Given the description of an element on the screen output the (x, y) to click on. 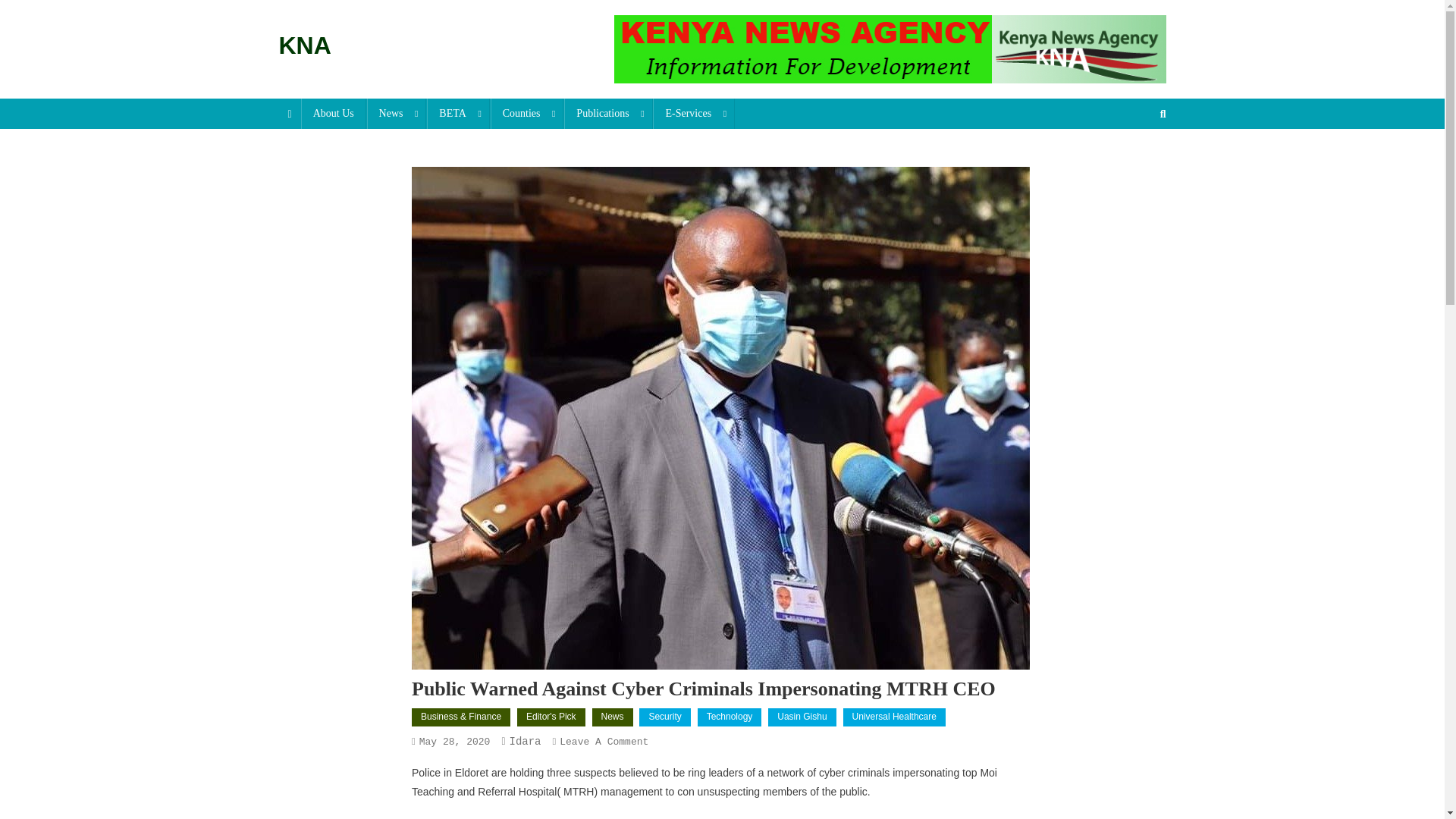
About Us (333, 113)
BETA (457, 113)
News (396, 113)
Counties (527, 113)
KNA (305, 44)
